Given the description of an element on the screen output the (x, y) to click on. 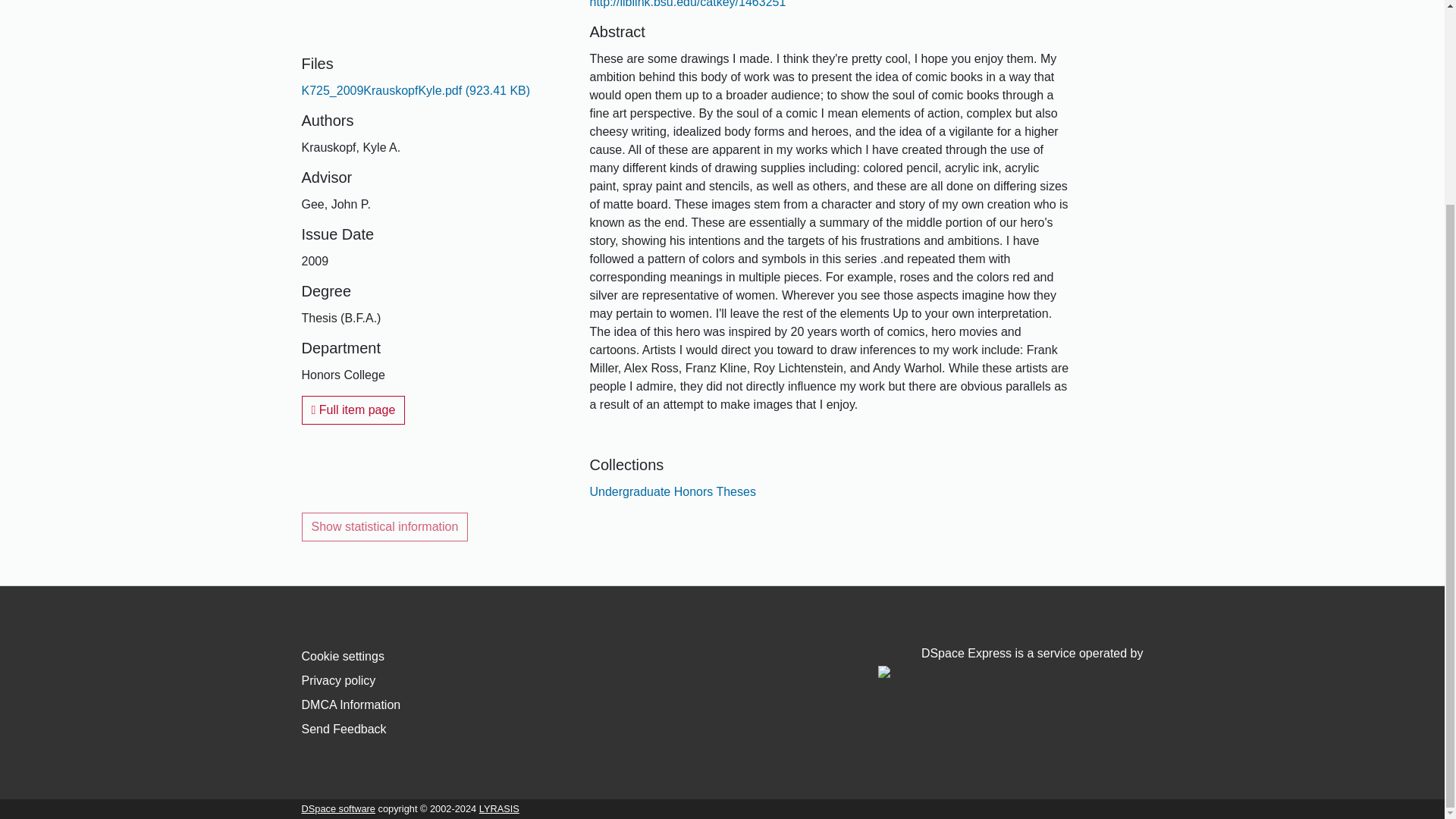
DSpace software (338, 808)
DMCA Information (351, 704)
Undergraduate Honors Theses (672, 491)
Privacy policy (338, 680)
LYRASIS (499, 808)
Show statistical information (384, 526)
DSpace Express is a service operated by (1009, 662)
Send Feedback (344, 728)
Cookie settings (342, 656)
Full item page (353, 410)
